Given the description of an element on the screen output the (x, y) to click on. 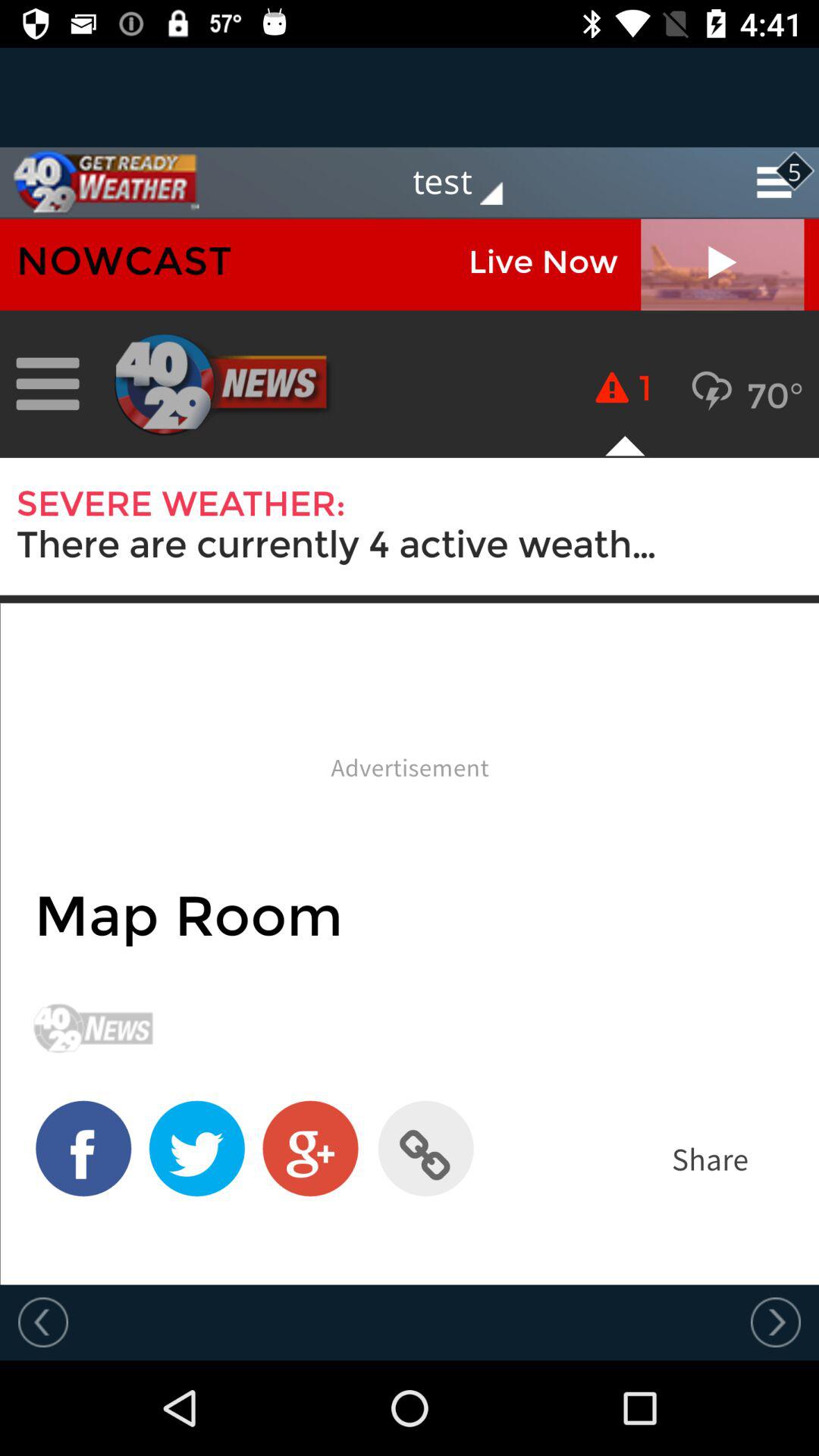
go to next page (775, 1322)
